Given the description of an element on the screen output the (x, y) to click on. 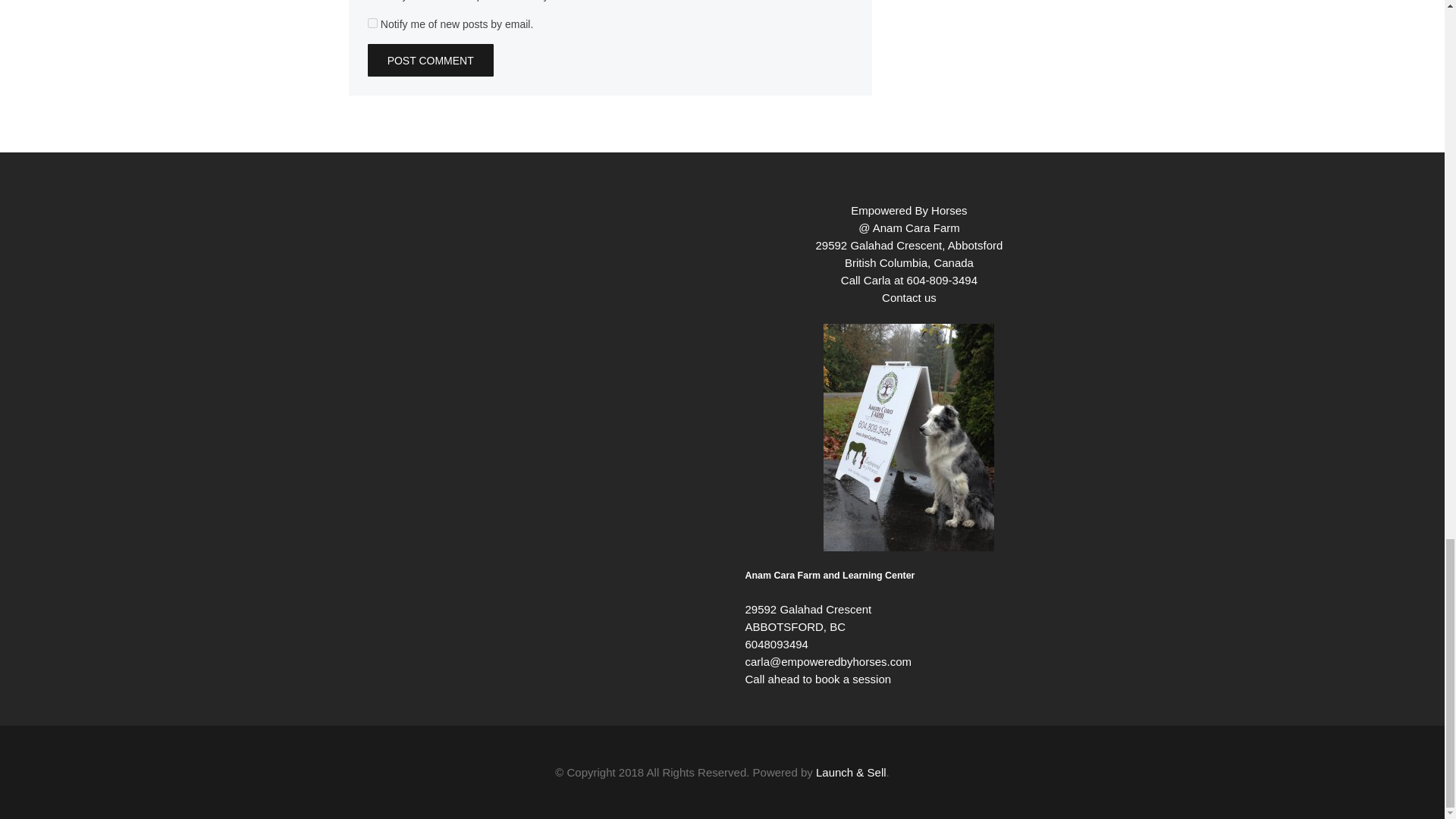
Post Comment (430, 60)
Contact us (909, 297)
subscribe (372, 22)
Post Comment (430, 60)
